Given the description of an element on the screen output the (x, y) to click on. 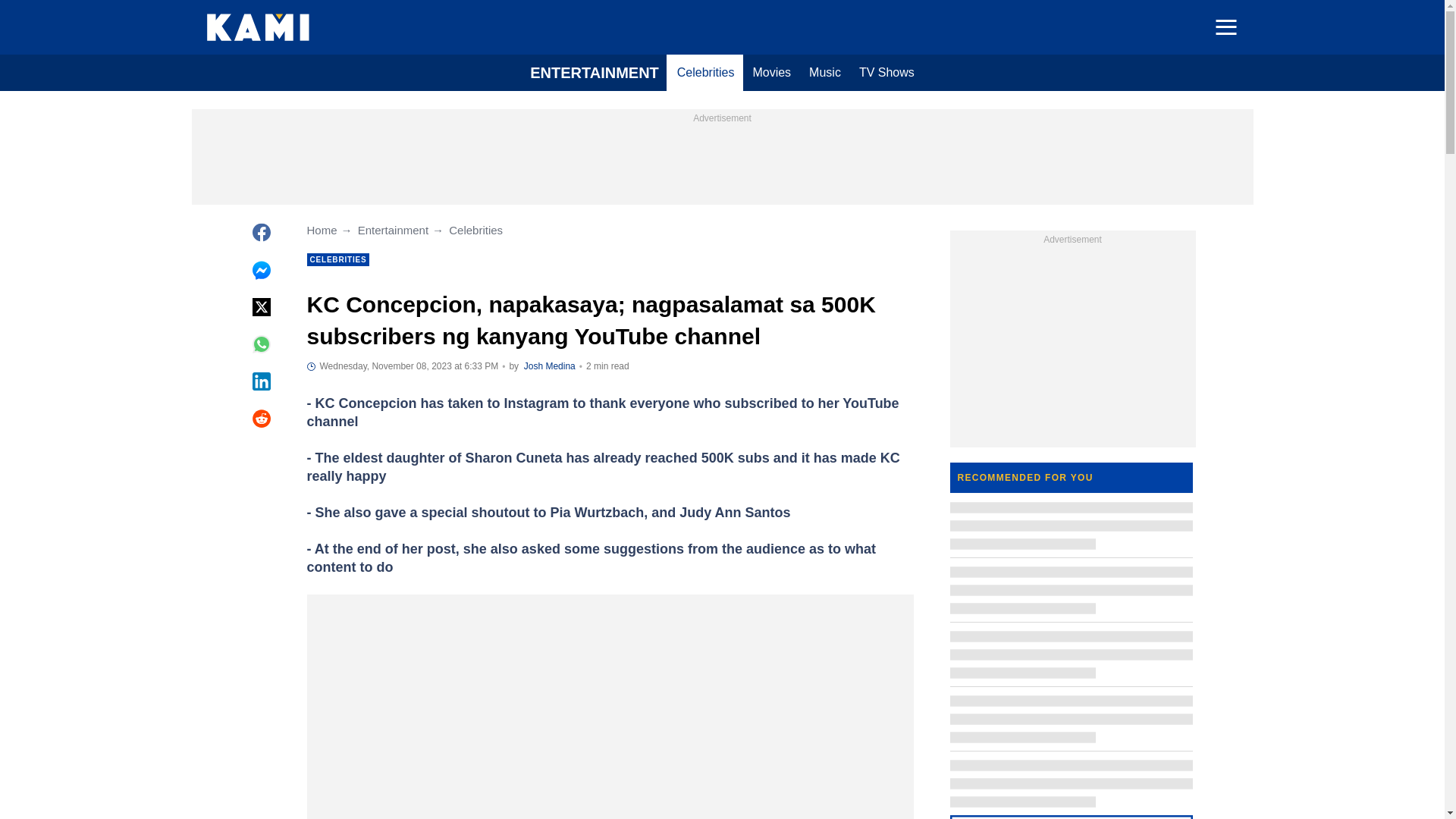
Movies (770, 72)
Music (824, 72)
ENTERTAINMENT (594, 72)
TV Shows (886, 72)
Celebrities (706, 72)
Author page (549, 366)
